Given the description of an element on the screen output the (x, y) to click on. 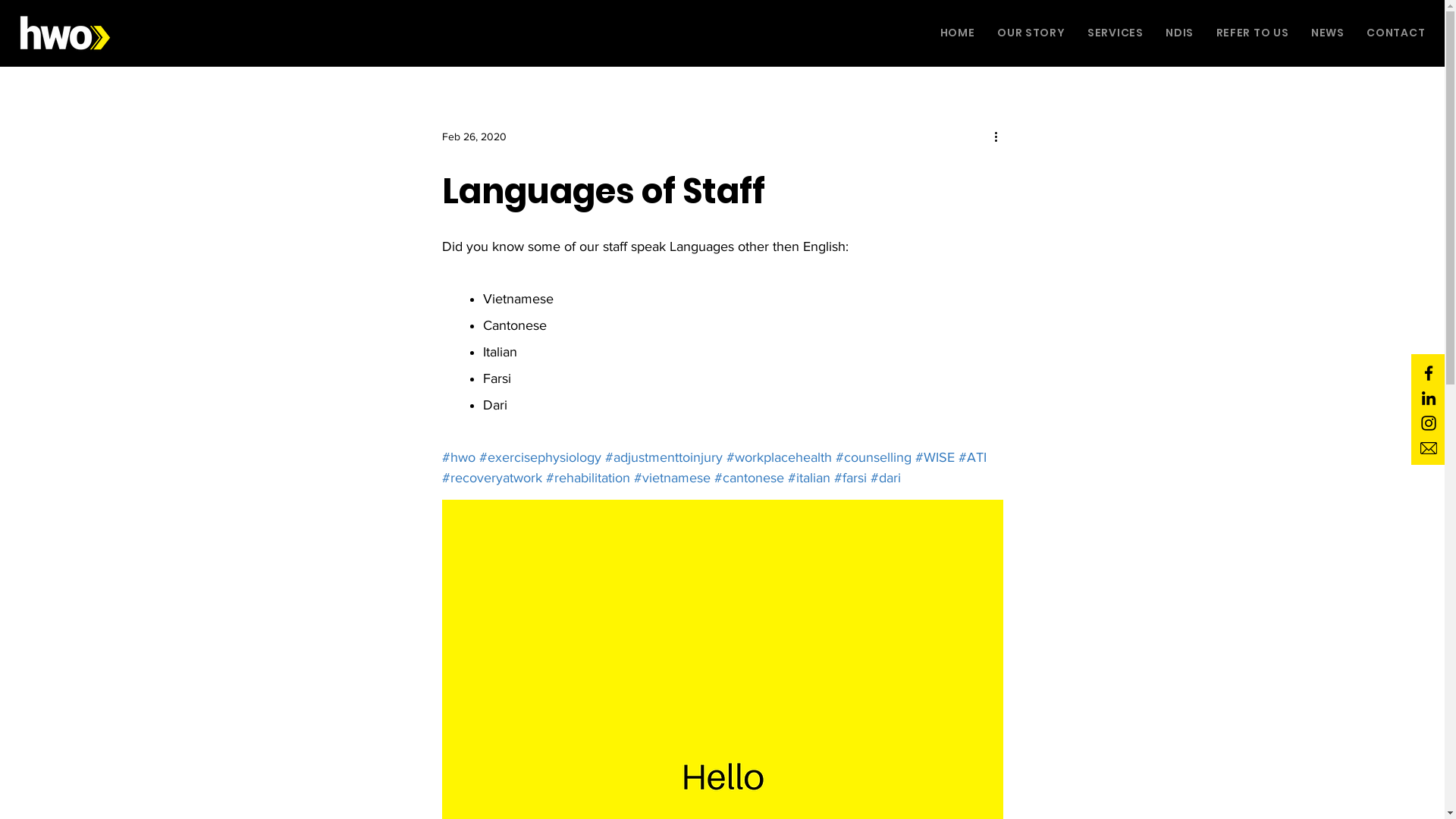
#WISE Element type: text (933, 456)
#adjustmenttoinjury Element type: text (663, 456)
#recoveryatwork Element type: text (491, 477)
#rehabilitation Element type: text (588, 477)
CONTACT Element type: text (1395, 32)
#exercisephysiology Element type: text (540, 456)
#hwo Element type: text (457, 456)
#workplacehealth Element type: text (778, 456)
#dari Element type: text (885, 477)
OUR STORY Element type: text (1030, 32)
#ATI Element type: text (972, 456)
#counselling Element type: text (873, 456)
#farsi Element type: text (850, 477)
SERVICES Element type: text (1115, 32)
NEWS Element type: text (1327, 32)
HOME Element type: text (956, 32)
#vietnamese Element type: text (671, 477)
NDIS Element type: text (1179, 32)
#cantonese Element type: text (749, 477)
#italian Element type: text (808, 477)
REFER TO US Element type: text (1252, 32)
